Given the description of an element on the screen output the (x, y) to click on. 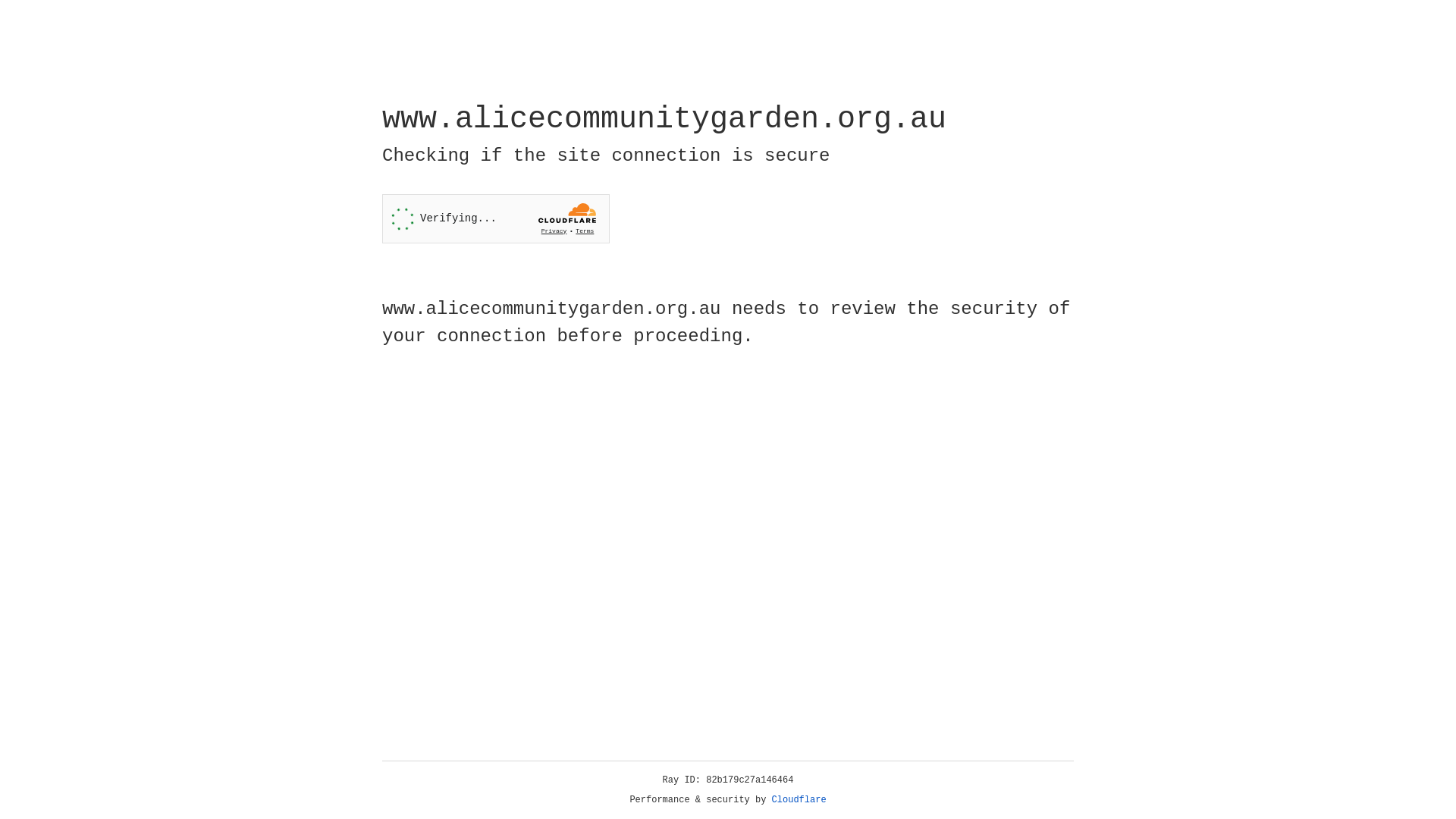
Cloudflare Element type: text (798, 799)
Widget containing a Cloudflare security challenge Element type: hover (495, 218)
